Given the description of an element on the screen output the (x, y) to click on. 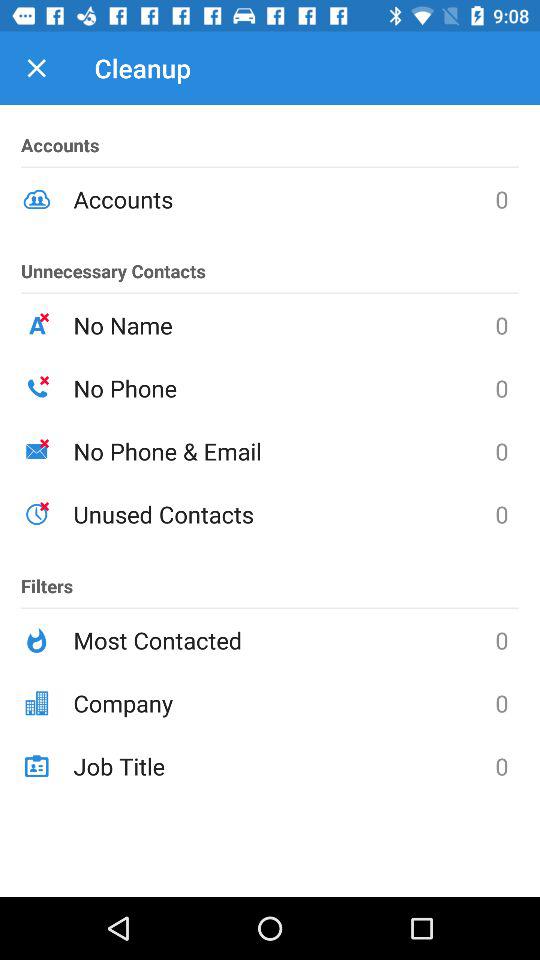
open the job title icon (284, 766)
